Given the description of an element on the screen output the (x, y) to click on. 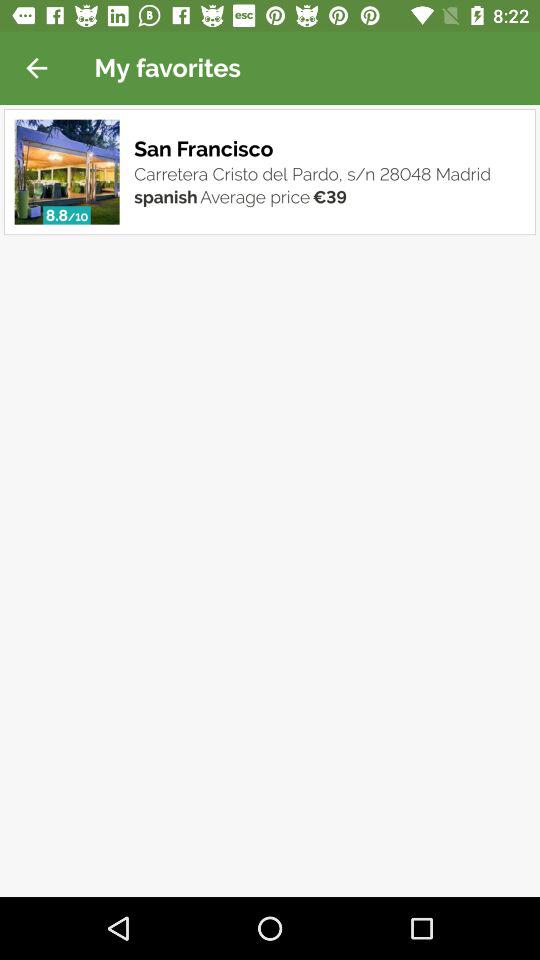
turn on the item to the left of the average price (165, 195)
